Given the description of an element on the screen output the (x, y) to click on. 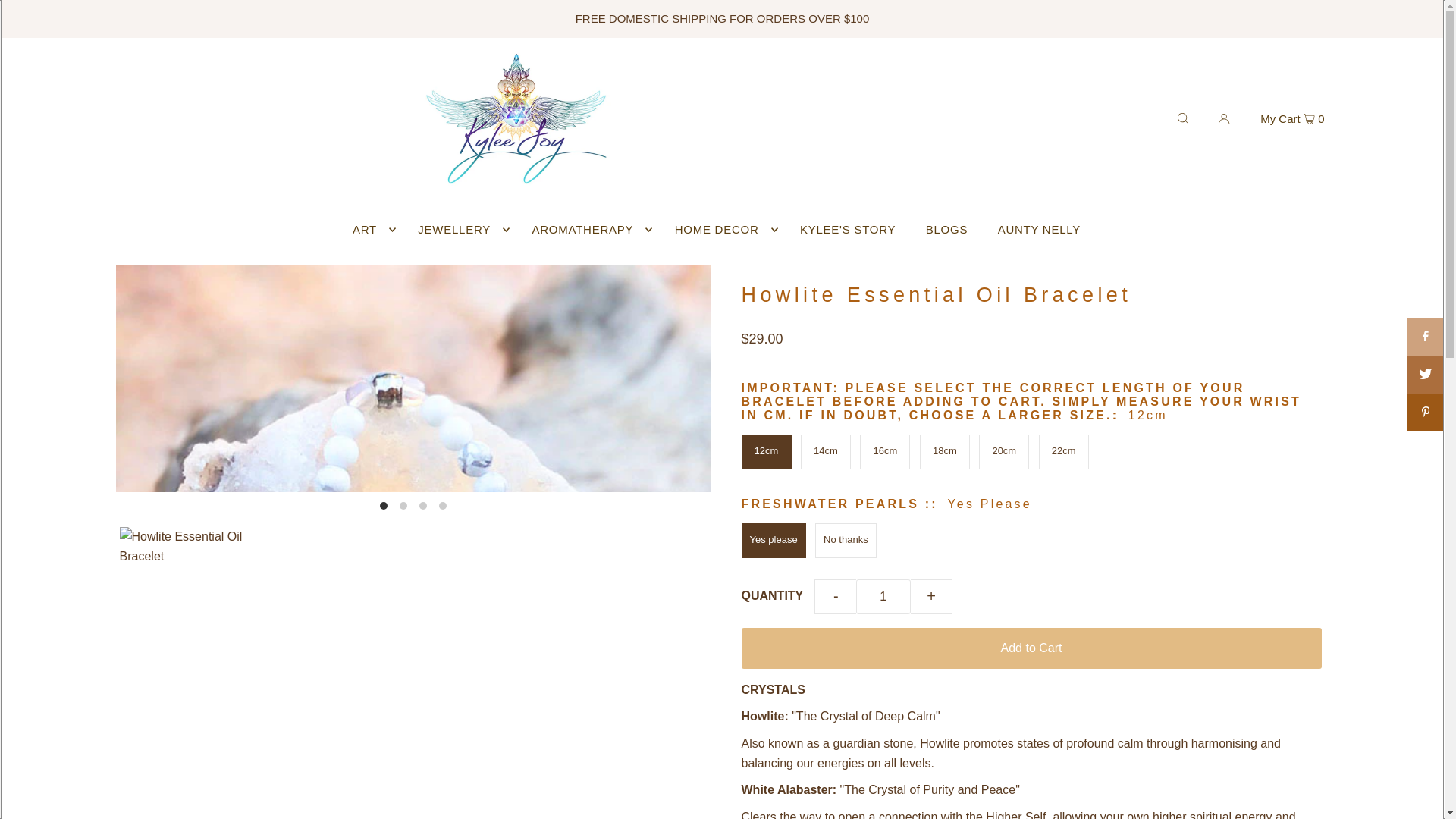
ART (370, 229)
Add to Cart (1031, 648)
1 (883, 596)
JEWELLERY (459, 229)
